Given the description of an element on the screen output the (x, y) to click on. 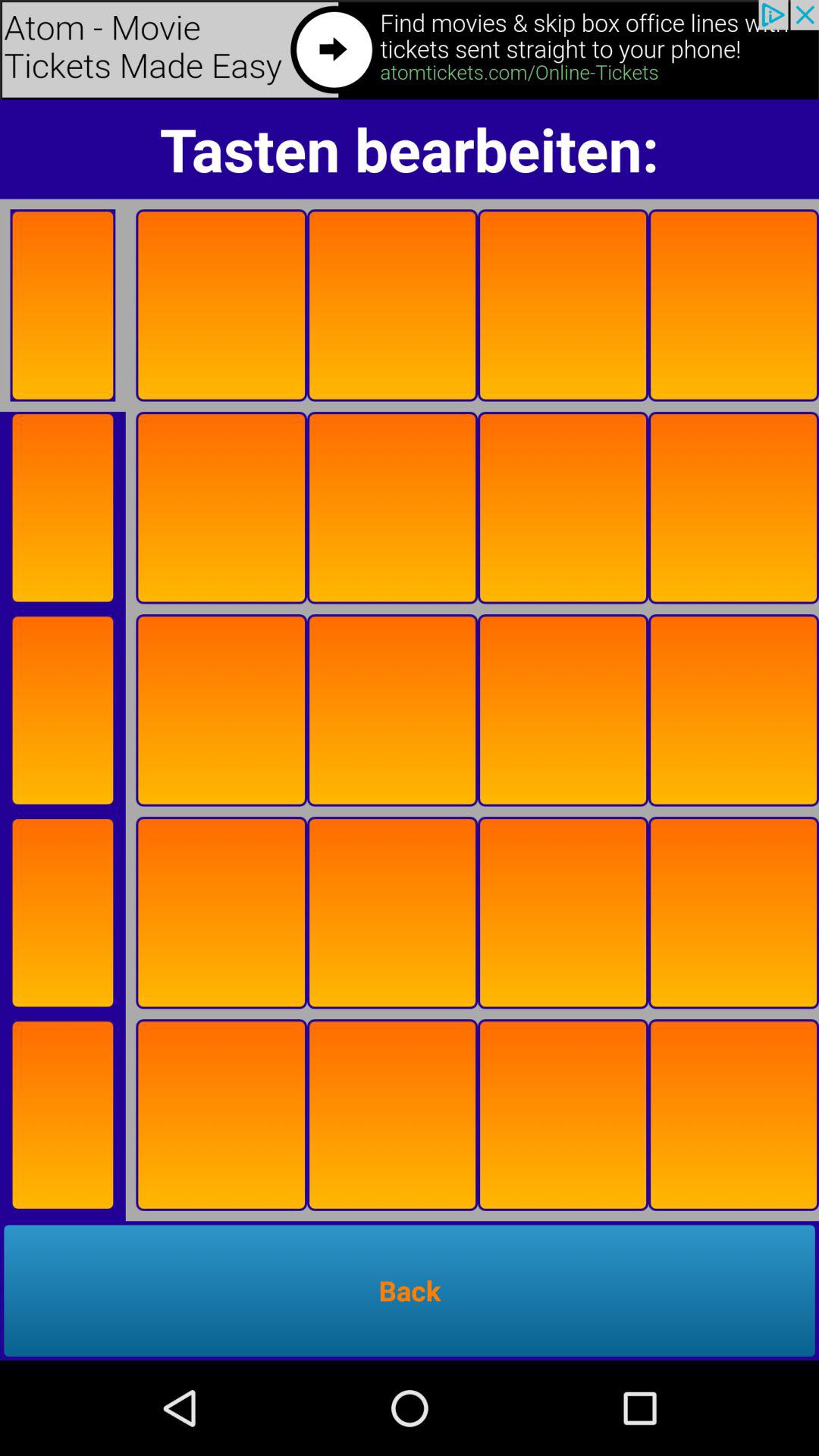
click on the box on the fourth row fifth column (733, 912)
select the square box in second row second column (392, 508)
select the third orange box which is below tasten bearbeiten on page (392, 305)
select the square box third row third one (392, 710)
move to the fifth box in the first row (733, 305)
